Given the description of an element on the screen output the (x, y) to click on. 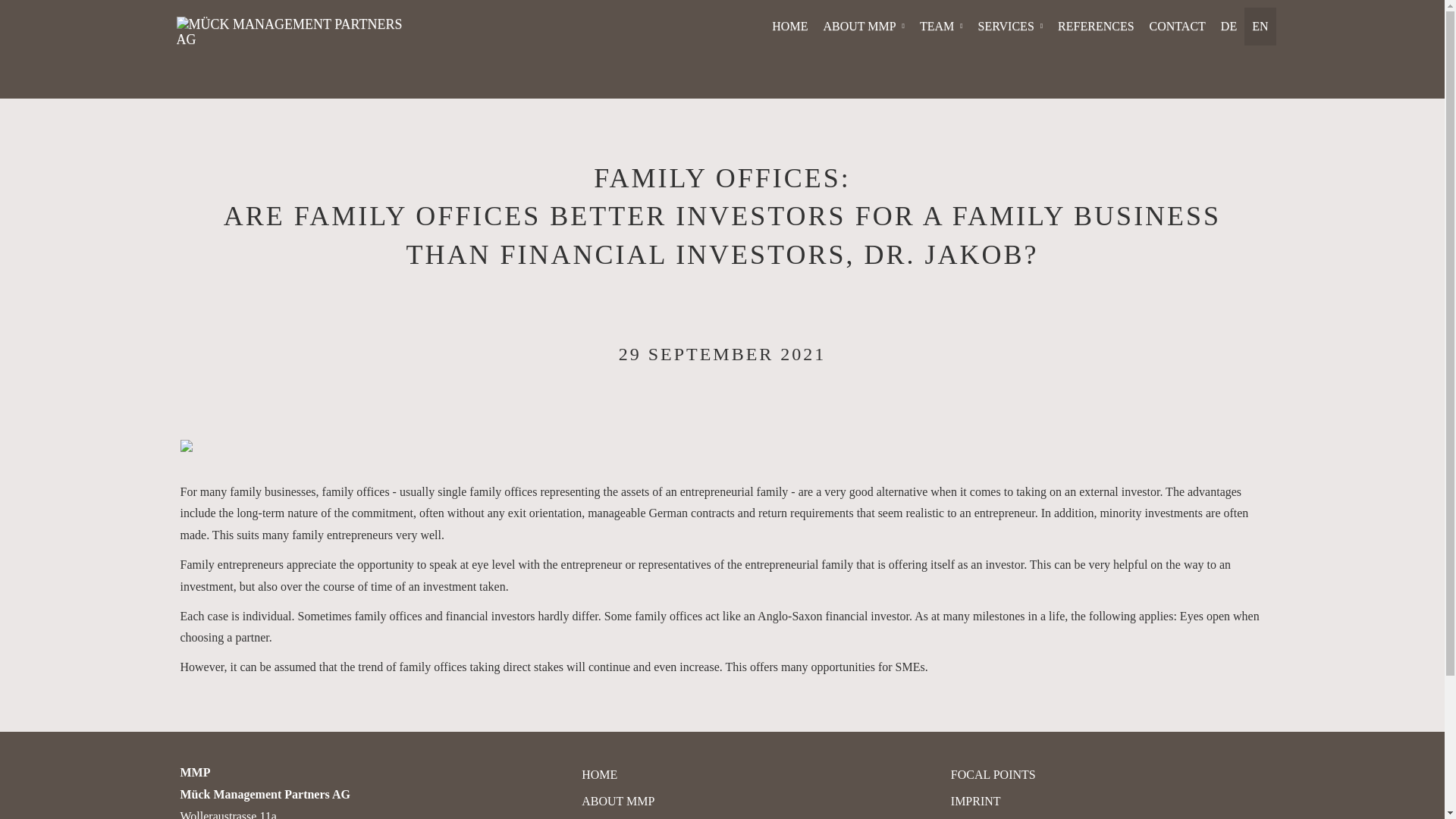
TEAM (941, 26)
SERVICES (1011, 26)
REFERENCES (1095, 26)
ABOUT MMP (863, 26)
HOME (789, 26)
REFERENCES (1095, 26)
SERVICES (1011, 26)
CONTACT (1176, 26)
HOME (789, 26)
ABOUT MMP (616, 800)
TEAM (941, 26)
ABOUT MMP (863, 26)
HOME (598, 774)
CONTACT (1176, 26)
